Given the description of an element on the screen output the (x, y) to click on. 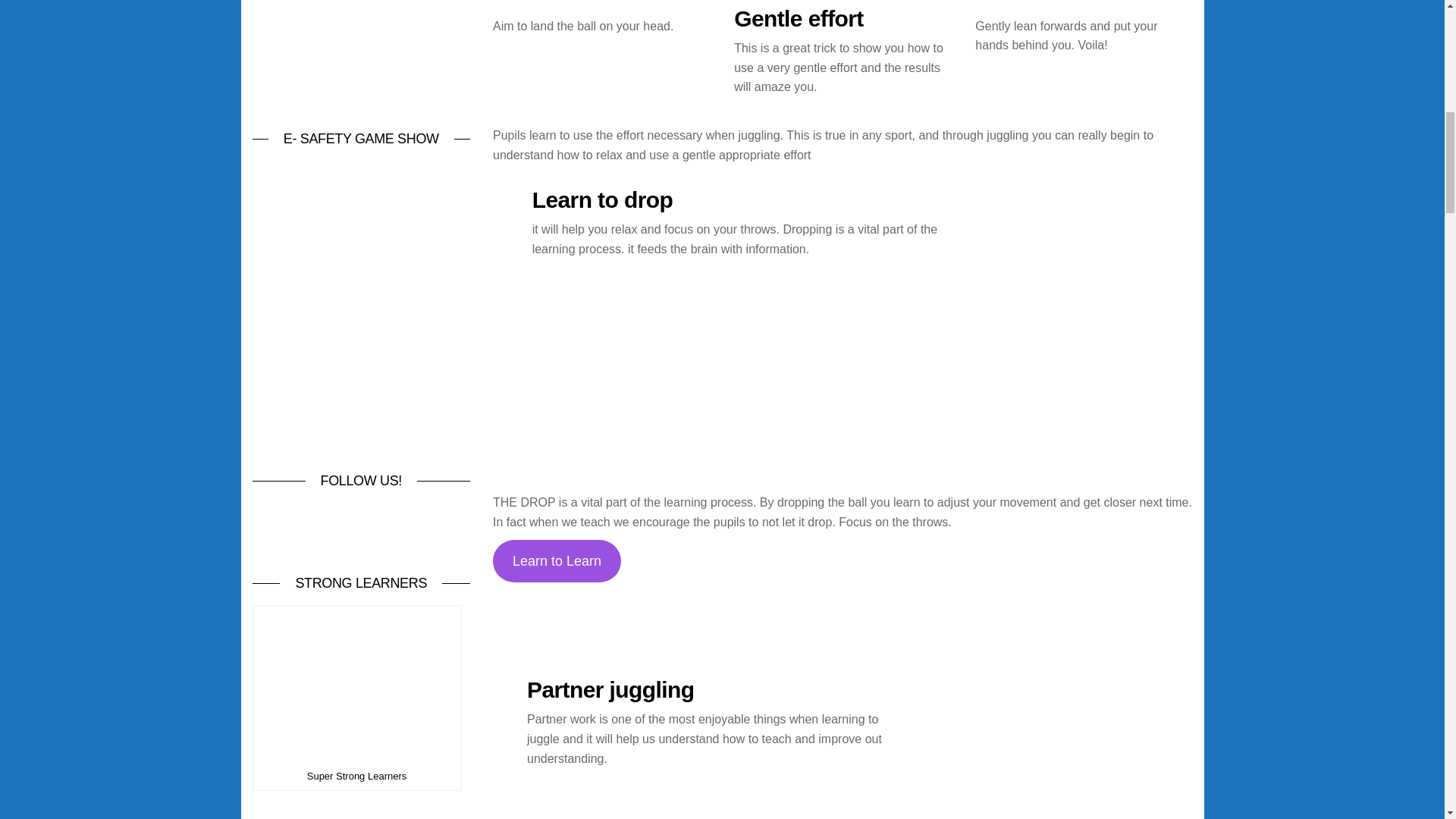
Follow Us on Facebook (300, 526)
Learn to Learn (557, 561)
Follow Us on Twitter (357, 526)
